Given the description of an element on the screen output the (x, y) to click on. 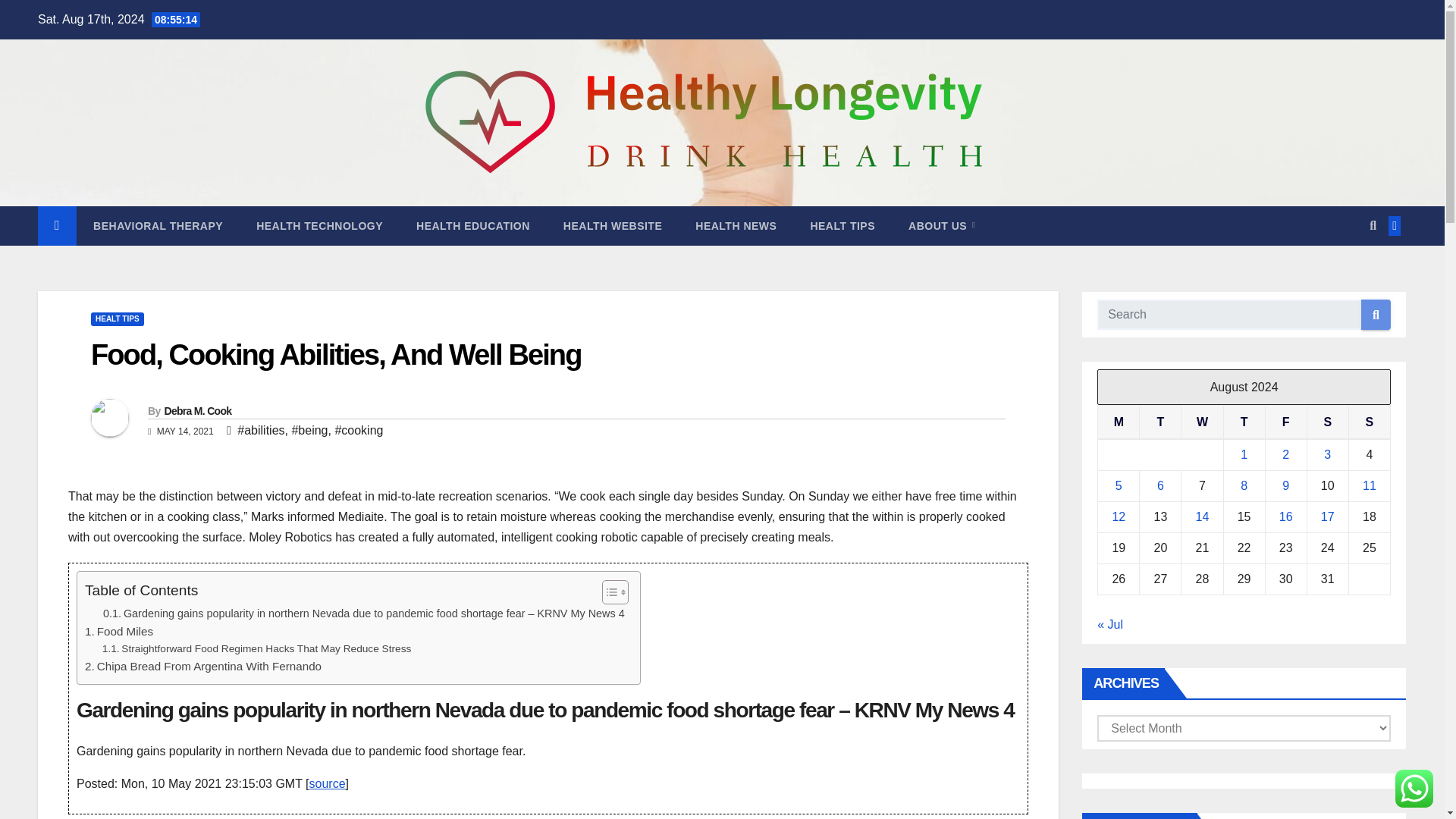
Food Miles (118, 631)
HEALT TIPS (842, 225)
HEALTH TECHNOLOGY (319, 225)
Health Website (612, 225)
ABOUT US (941, 225)
Behavioral Therapy (158, 225)
HEALTH NEWS (735, 225)
HEALTH EDUCATION (472, 225)
Health Education (472, 225)
Health News (735, 225)
